Given the description of an element on the screen output the (x, y) to click on. 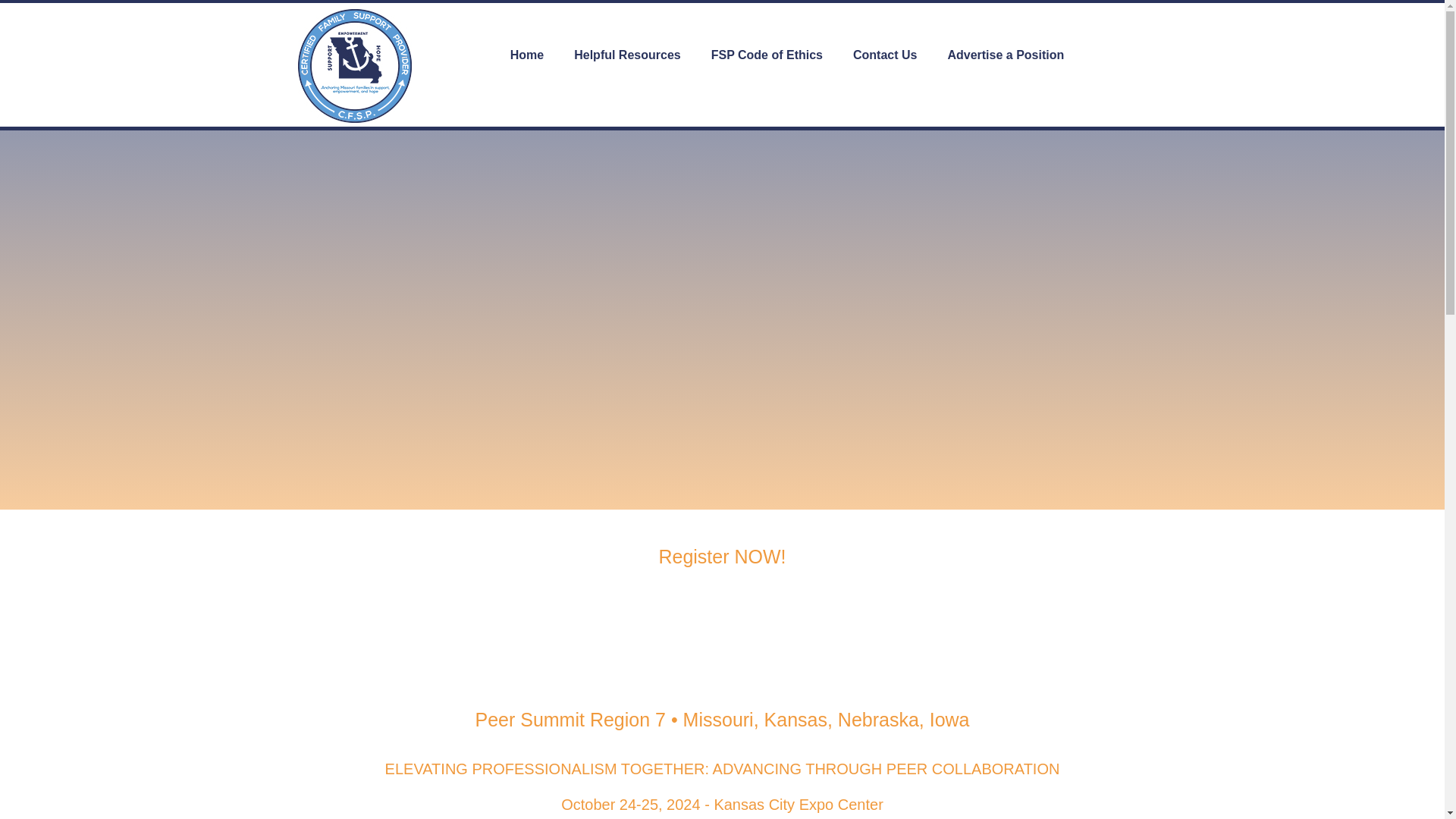
Advertise a Position (1004, 54)
Contact Us (884, 54)
FSP Code of Ethics (766, 54)
Helpful Resources (627, 54)
Home (527, 54)
